Given the description of an element on the screen output the (x, y) to click on. 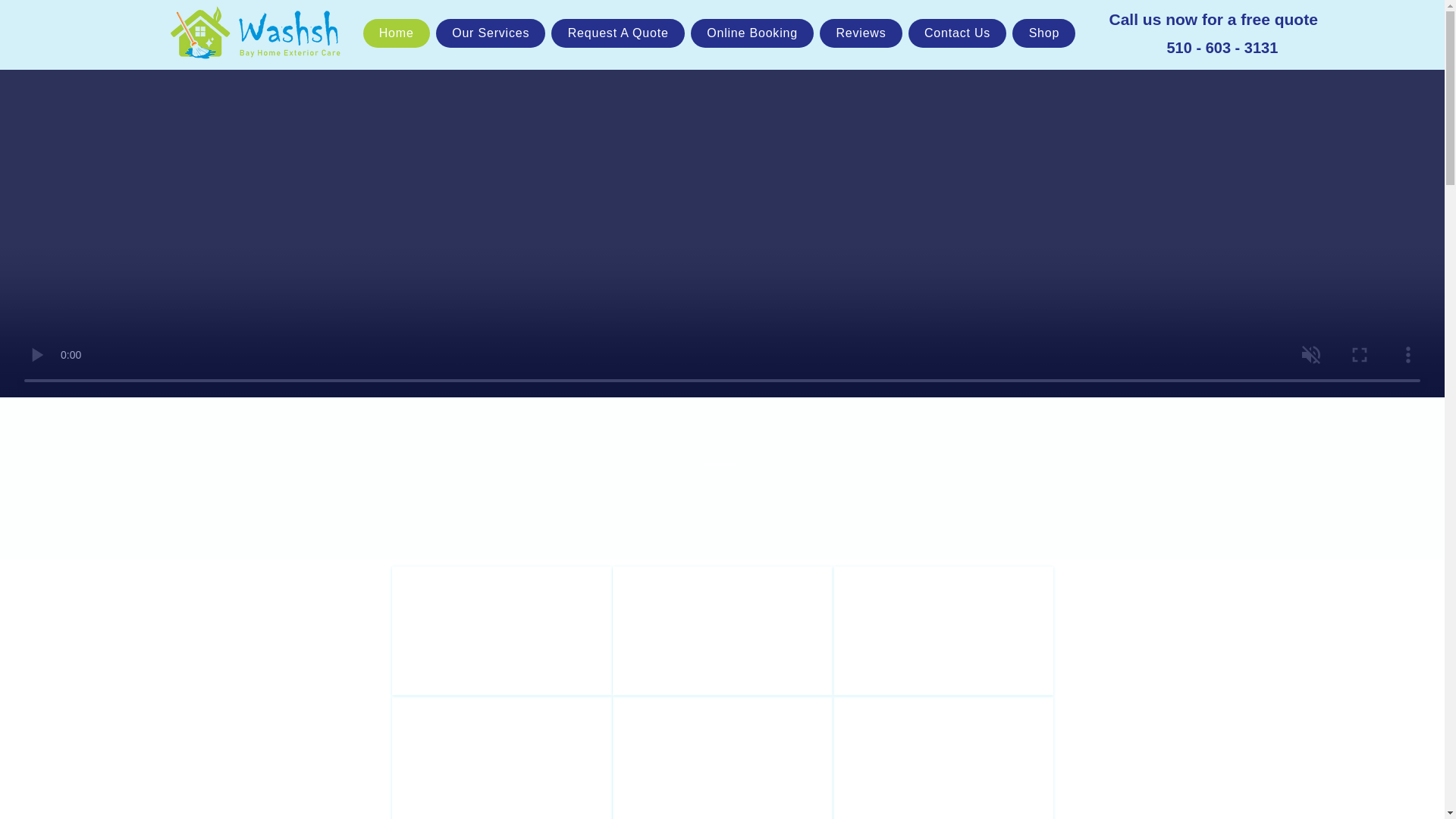
Online Booking (751, 32)
Shop (1043, 32)
Contact Us (957, 32)
Home (395, 32)
Our Services (490, 32)
Reviews (860, 32)
Request A Quote (617, 32)
